Given the description of an element on the screen output the (x, y) to click on. 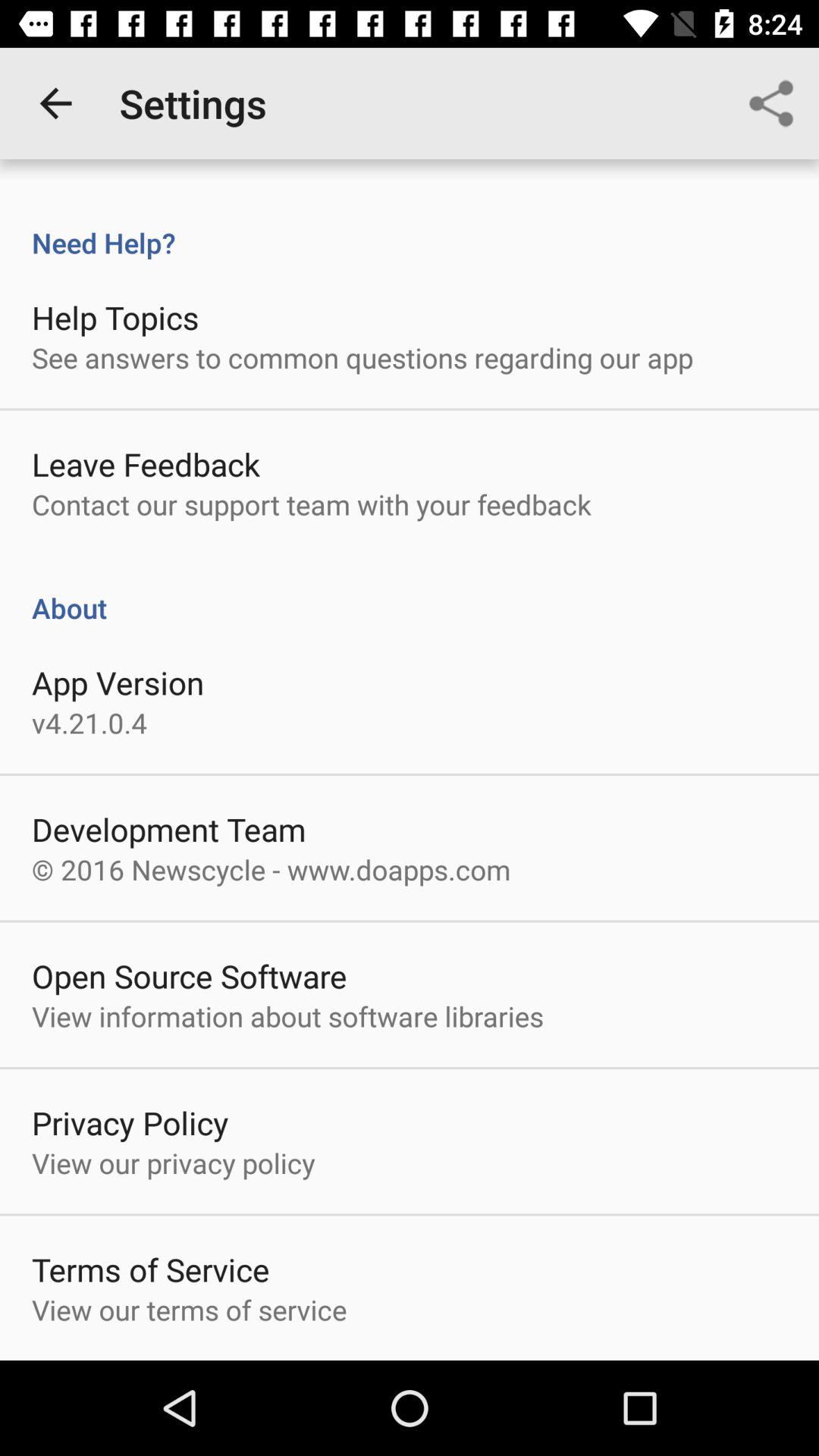
click development team icon (168, 828)
